Given the description of an element on the screen output the (x, y) to click on. 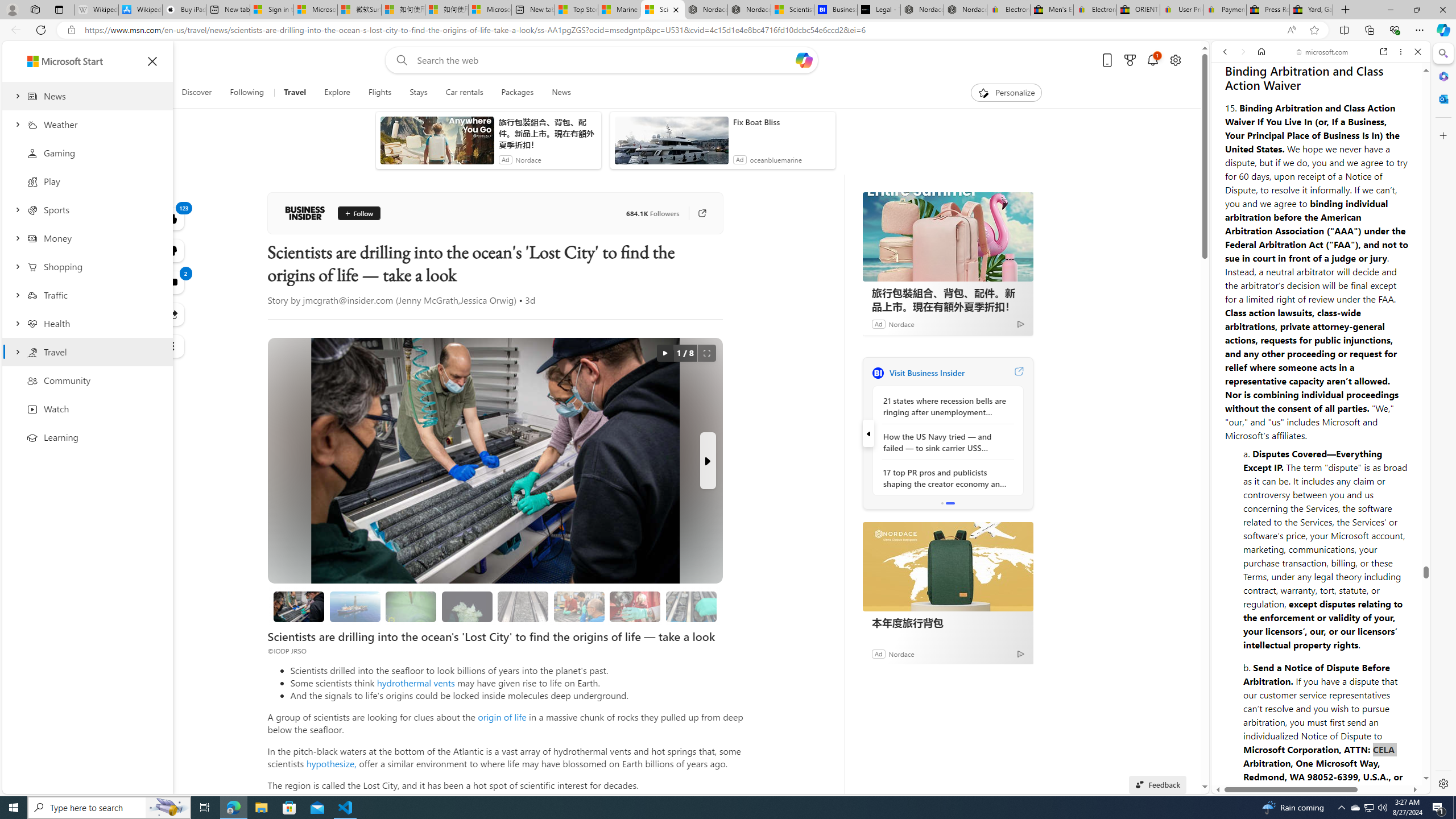
Flights (379, 92)
autorotate button (664, 352)
Flights (379, 92)
Looking for evidence of oxygen-free life (579, 606)
